Given the description of an element on the screen output the (x, y) to click on. 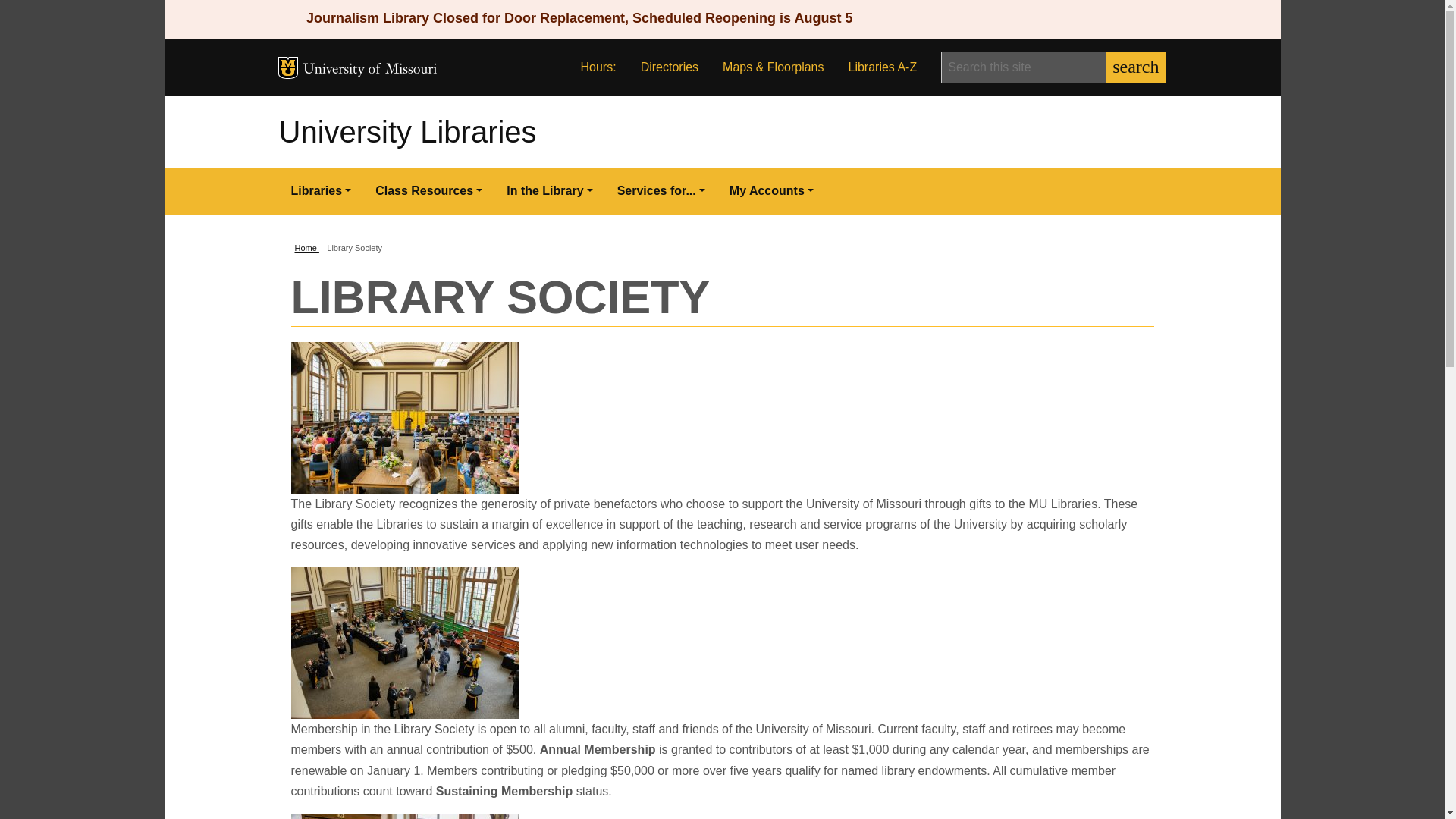
University Libraries (408, 131)
Libraries A-Z (881, 66)
In the Library (549, 191)
Libraries (321, 191)
search (1135, 67)
University Libraries (408, 131)
Hours: (598, 66)
University of Missouri (370, 69)
Class Resources (428, 191)
MU Logo (287, 66)
Directories (669, 66)
